Given the description of an element on the screen output the (x, y) to click on. 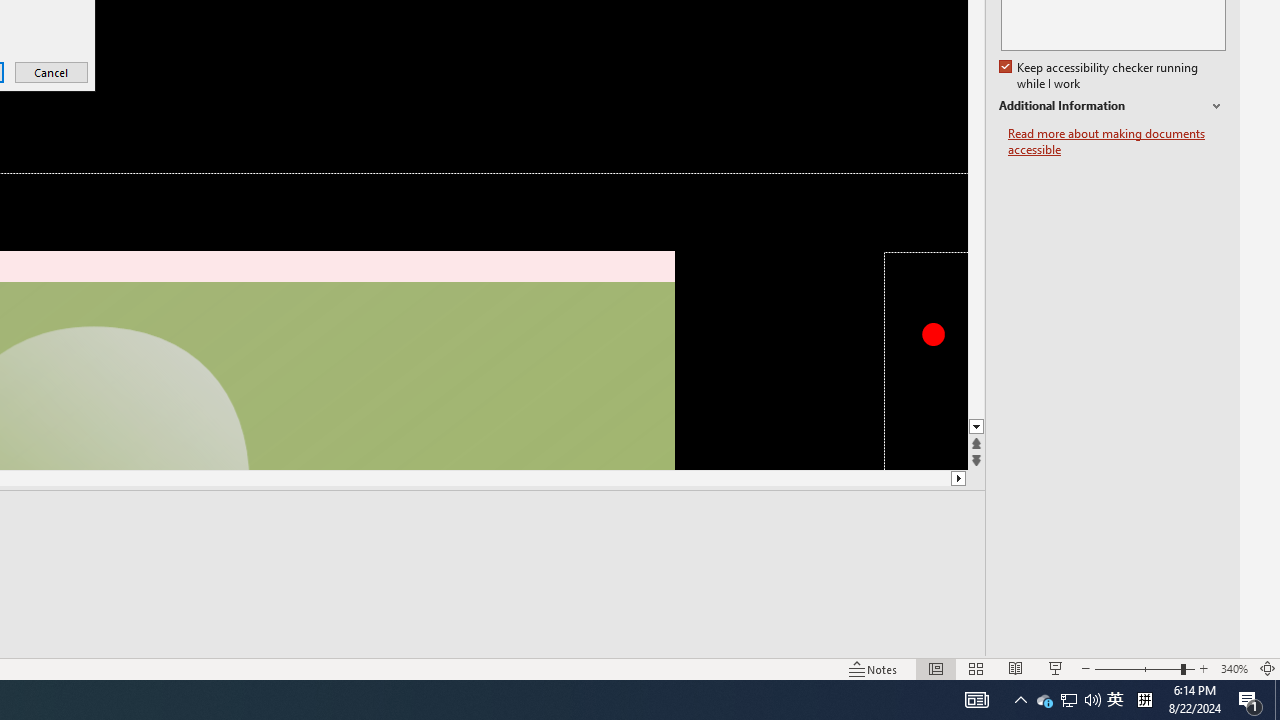
Zoom 340% (1234, 668)
